Given the description of an element on the screen output the (x, y) to click on. 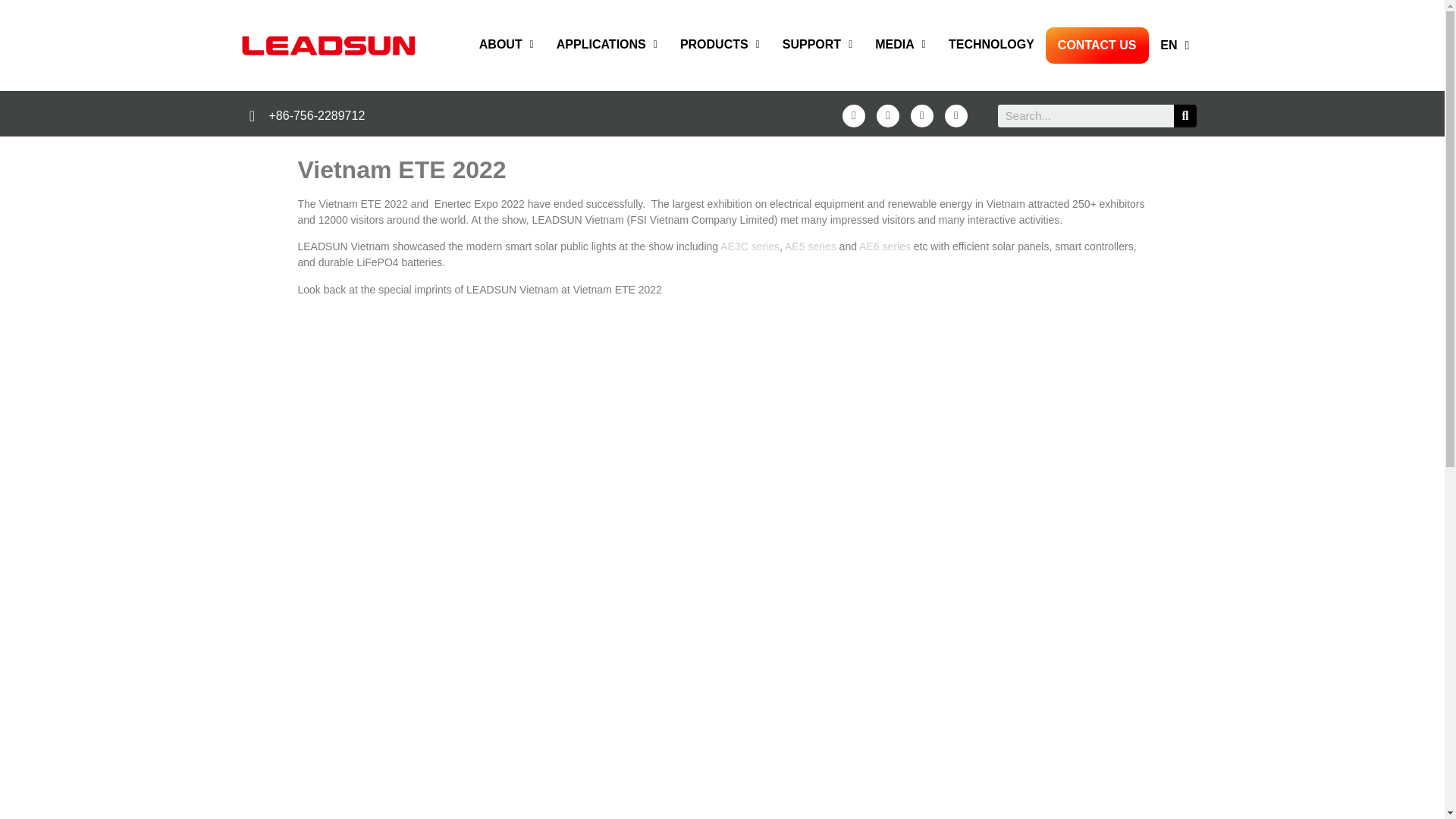
TECHNOLOGY (991, 44)
ABOUT (505, 44)
Search (1184, 115)
SUPPORT (817, 44)
PRODUCTS (719, 44)
MEDIA (900, 44)
EN (1174, 45)
Search (1085, 115)
CONTACT US (1096, 45)
APPLICATIONS (606, 44)
